Given the description of an element on the screen output the (x, y) to click on. 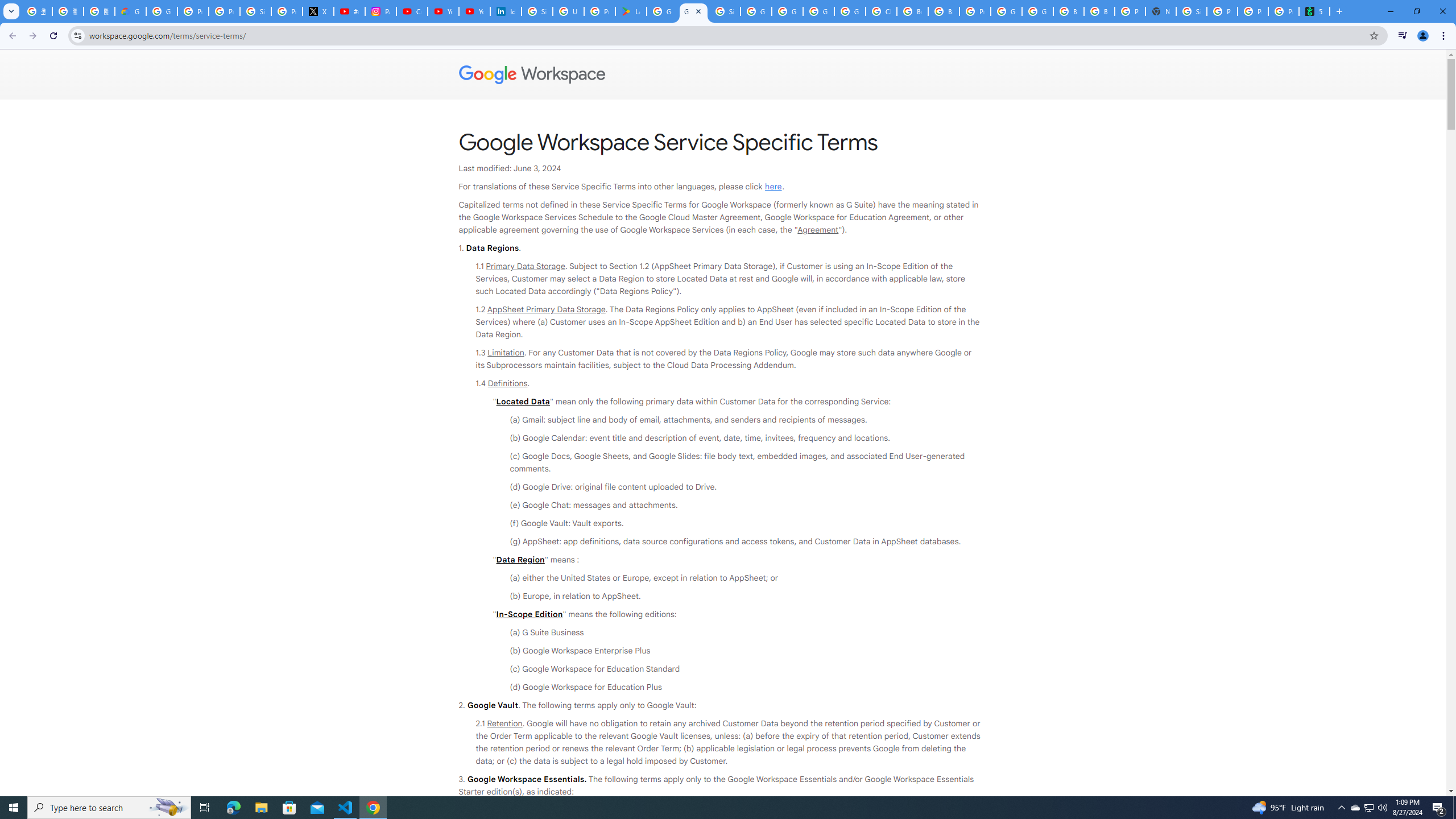
Google Cloud Privacy Notice (130, 11)
YouTube Culture & Trends - YouTube Top 10, 2021 (474, 11)
Google Cloud Platform (1037, 11)
#nbabasketballhighlights - YouTube (349, 11)
here (772, 186)
Google Workspace - Specific Terms (693, 11)
